Given the description of an element on the screen output the (x, y) to click on. 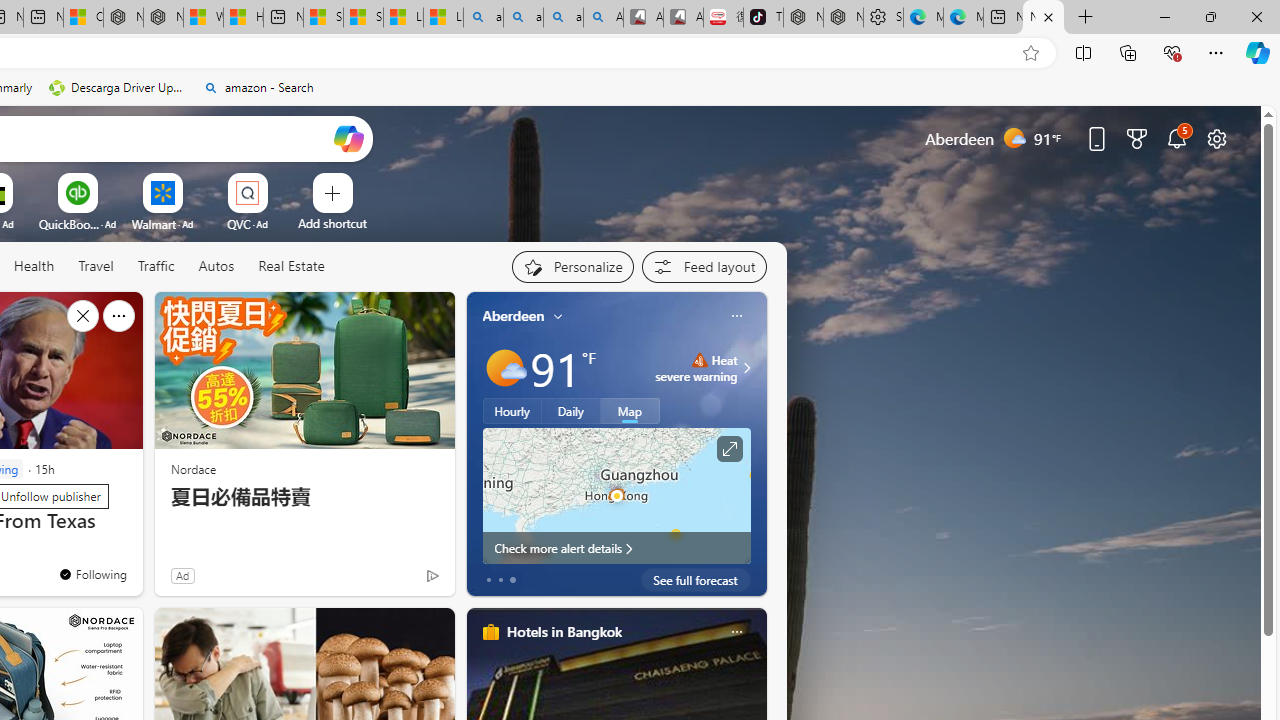
Page settings (1216, 138)
My location (558, 315)
Mostly sunny (504, 368)
This story is trending (393, 579)
Heat - Severe (699, 359)
